Given the description of an element on the screen output the (x, y) to click on. 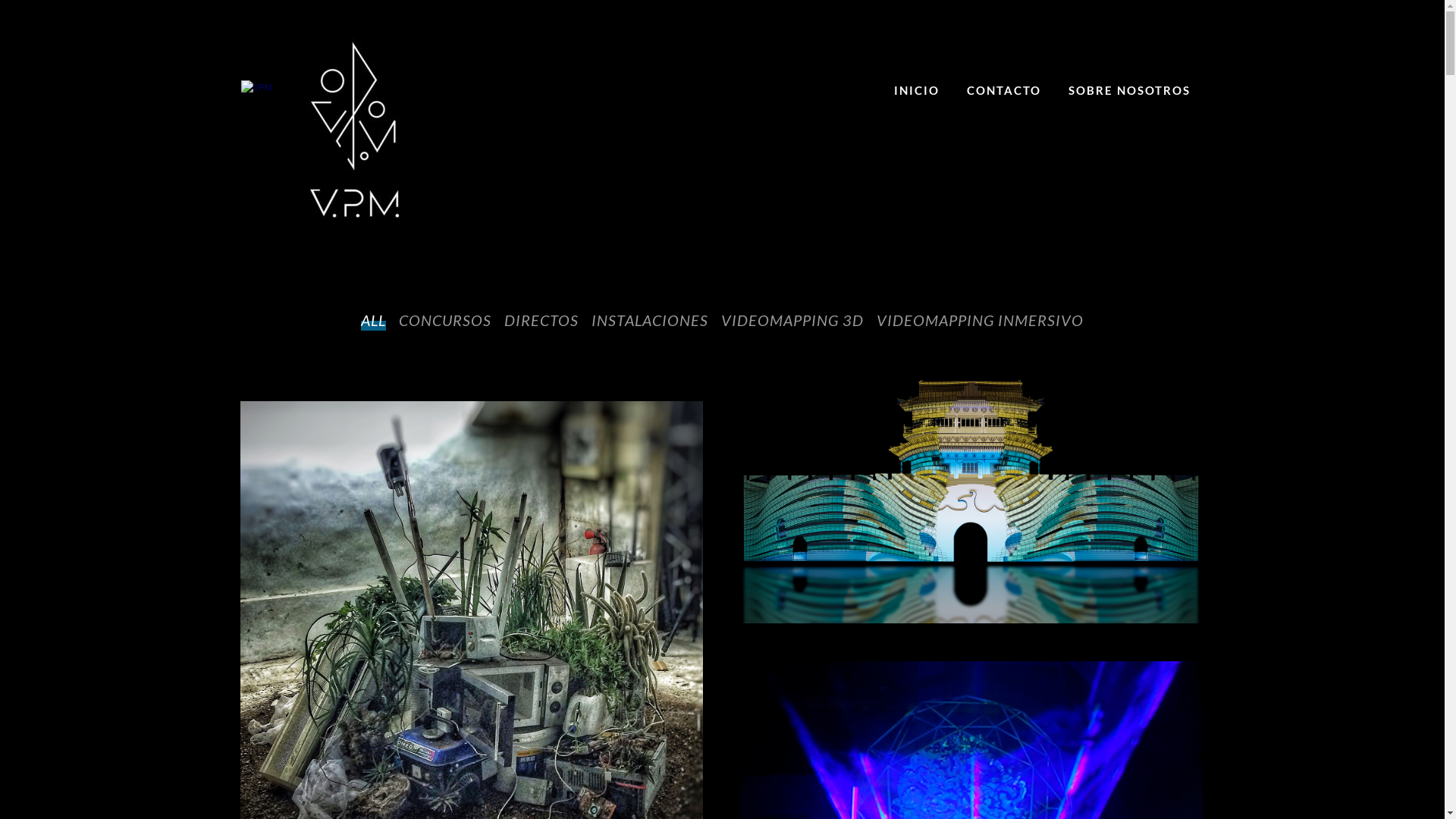
CONTACTO Element type: text (1003, 89)
VIDEOMAPPING INMERSIVO Element type: text (979, 319)
INSTALACIONES Element type: text (649, 319)
DIRECTOS Element type: text (541, 319)
ALL Element type: text (372, 319)
VIDEOMAPPING 3D Element type: text (792, 319)
CONCURSOS Element type: text (444, 319)
INICIO Element type: text (915, 89)
SOBRE NOSOTROS Element type: text (1128, 89)
